Given the description of an element on the screen output the (x, y) to click on. 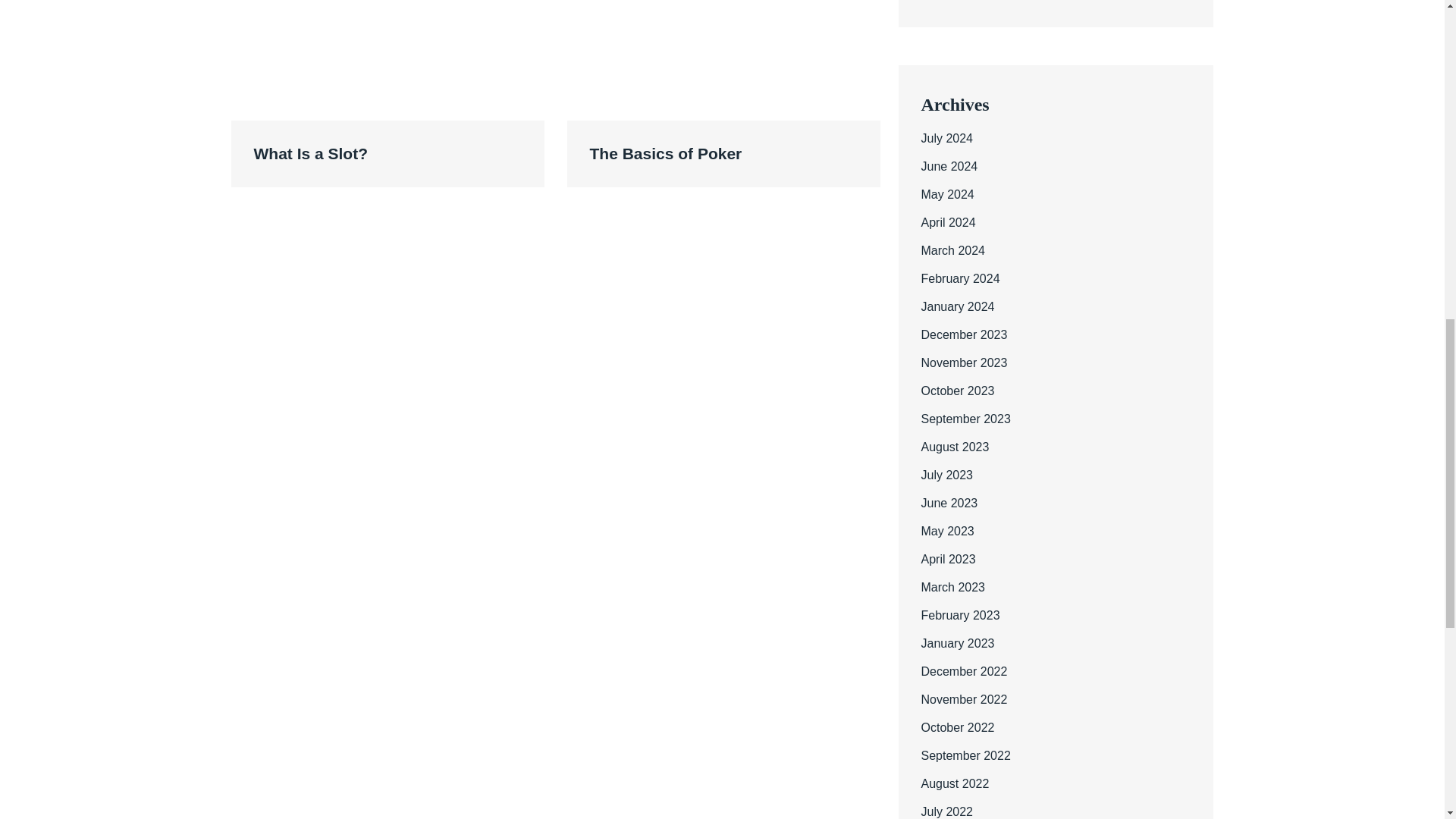
May 2024 (947, 194)
May 2023 (947, 530)
November 2023 (963, 362)
March 2024 (952, 250)
June 2024 (948, 165)
June 2023 (948, 502)
January 2024 (957, 306)
April 2023 (947, 558)
The Basics of Poker (723, 153)
August 2023 (954, 446)
April 2024 (947, 222)
February 2024 (959, 278)
October 2023 (957, 390)
December 2023 (963, 334)
March 2023 (952, 586)
